Given the description of an element on the screen output the (x, y) to click on. 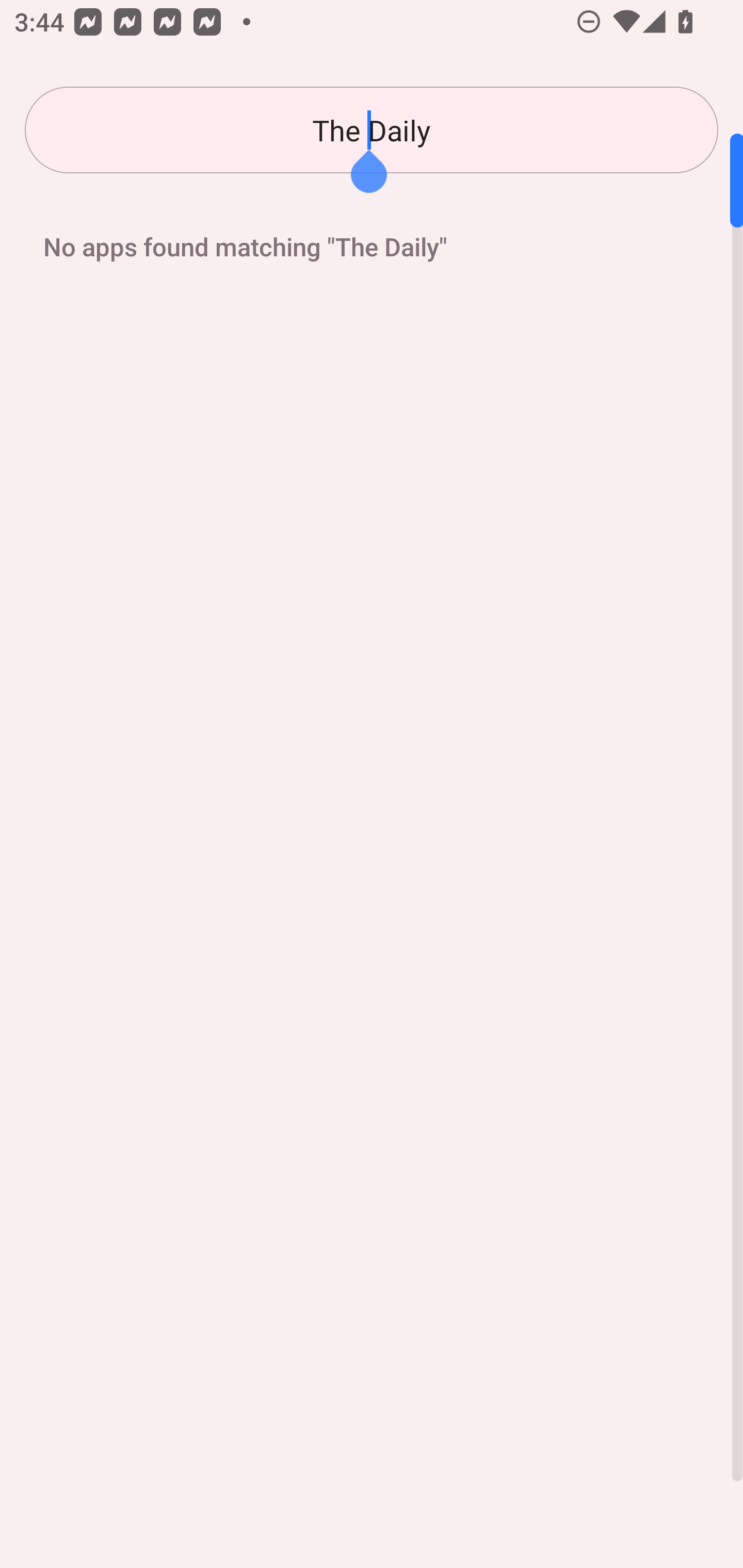
The Daily (371, 130)
